Given the description of an element on the screen output the (x, y) to click on. 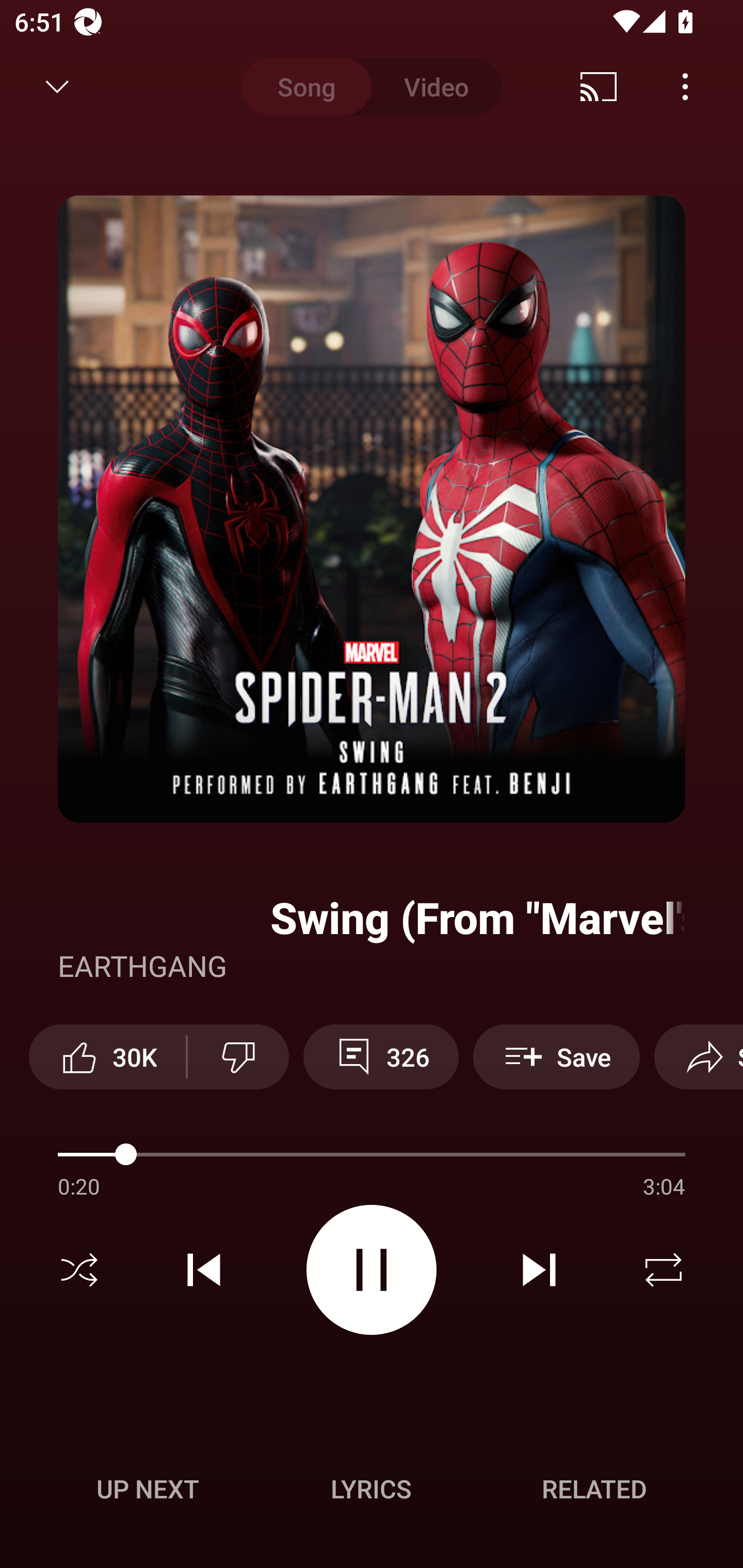
Minimize (57, 86)
Cast. Disconnected (598, 86)
Menu (684, 86)
30K like this video along with 30,883 other people (106, 1056)
Dislike (238, 1056)
326 View 326 comments (380, 1056)
Save Save to playlist (556, 1056)
Share (698, 1056)
Pause video (371, 1269)
Shuffle off (79, 1269)
Previous track (203, 1269)
Next track (538, 1269)
Repeat off (663, 1269)
Up next UP NEXT Lyrics LYRICS Related RELATED (371, 1491)
Lyrics LYRICS (370, 1488)
Related RELATED (594, 1488)
